Given the description of an element on the screen output the (x, y) to click on. 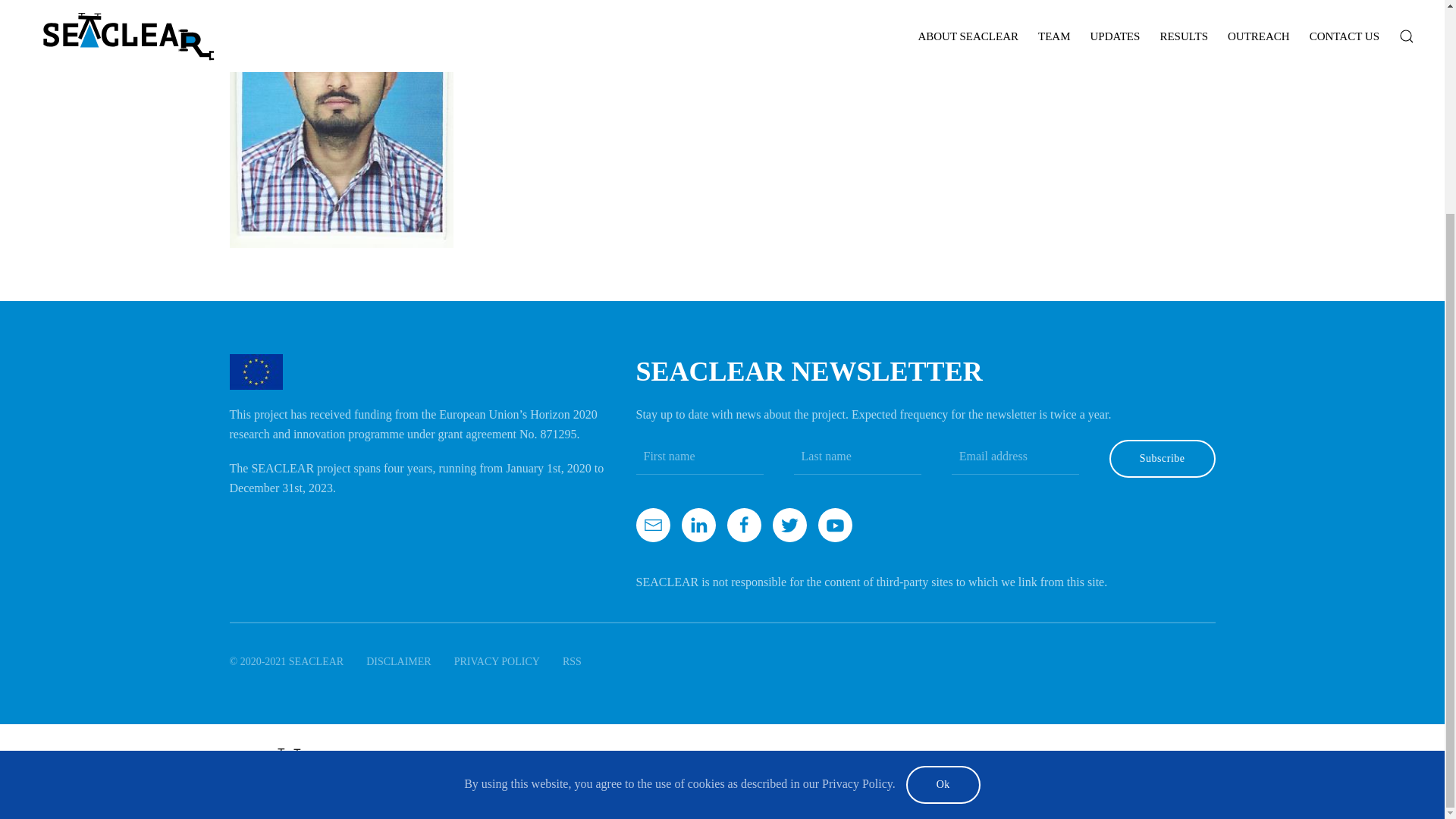
Subscribe (1162, 458)
